Given the description of an element on the screen output the (x, y) to click on. 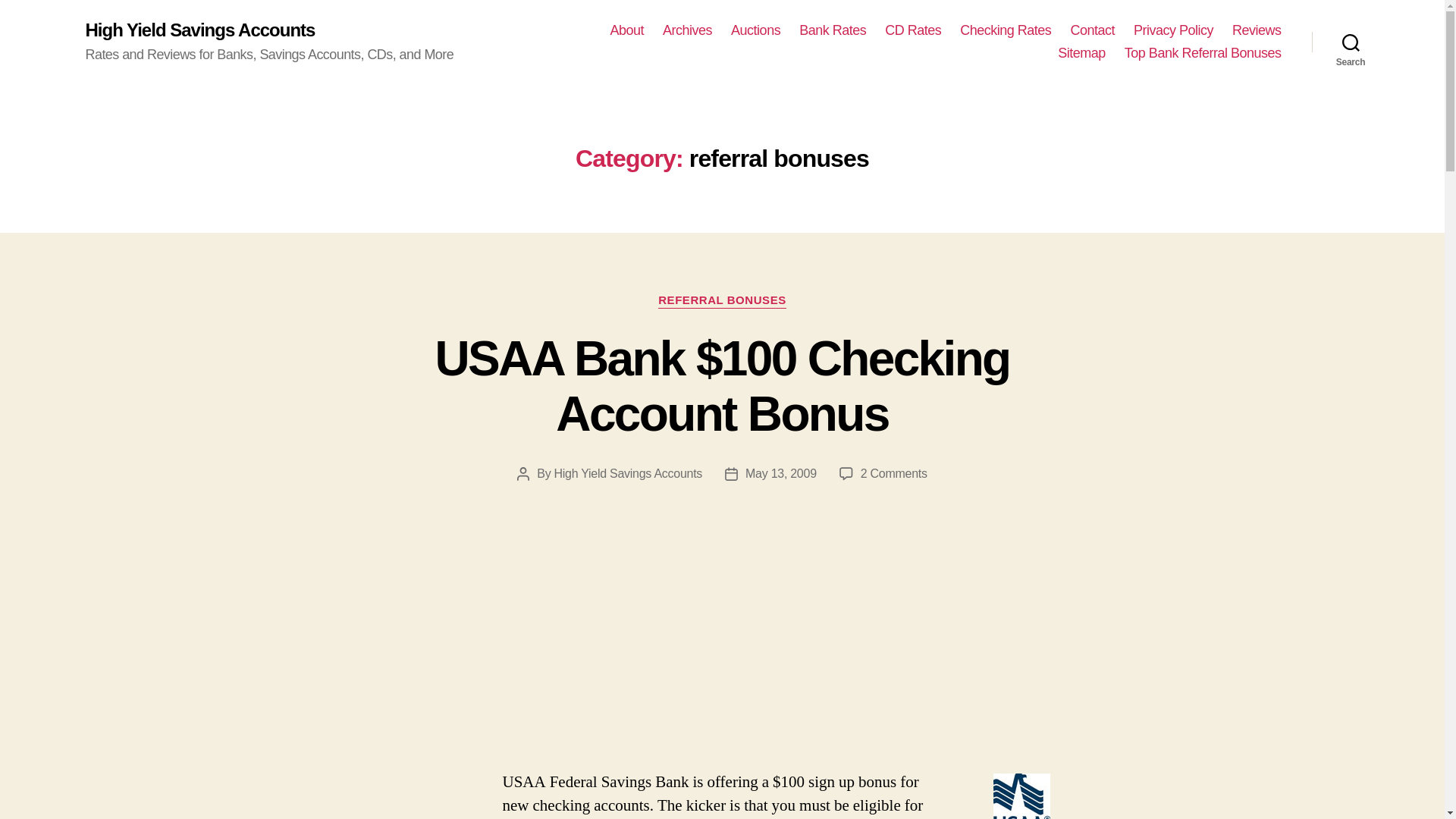
CD Rates (912, 30)
High Yield Savings Accounts (628, 472)
Bank Rates (832, 30)
usaa (1020, 796)
High Yield Savings Accounts (199, 30)
Reviews (1256, 30)
Auctions (755, 30)
May 13, 2009 (780, 472)
About (626, 30)
REFERRAL BONUSES (722, 300)
Top Bank Referral Bonuses (1202, 53)
Privacy Policy (1173, 30)
Contact (1092, 30)
Advertisement (219, 657)
Archives (686, 30)
